Given the description of an element on the screen output the (x, y) to click on. 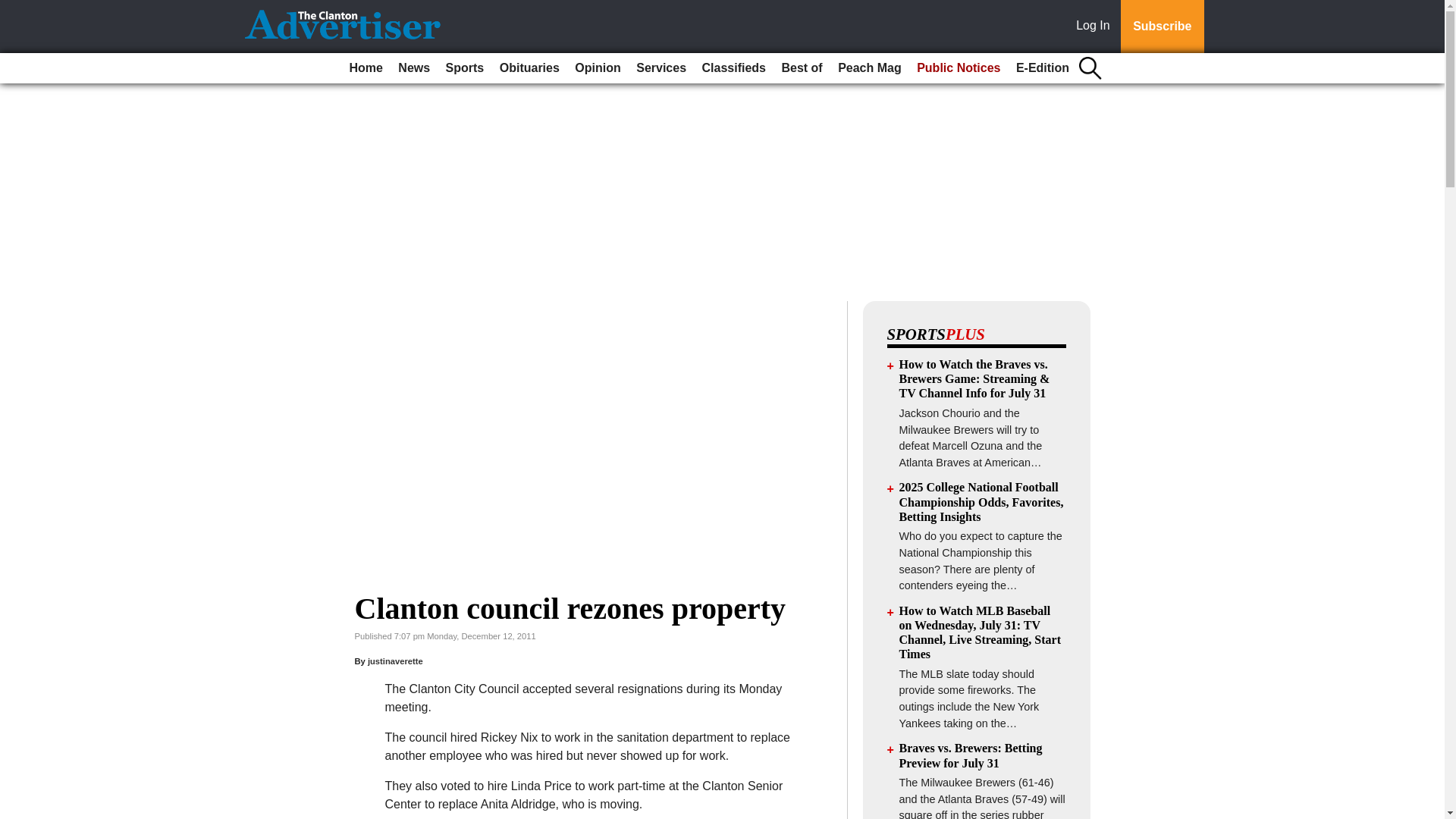
Go (13, 9)
E-Edition (1042, 68)
justinaverette (395, 660)
Best of (801, 68)
Services (661, 68)
Log In (1095, 26)
Subscribe (1162, 26)
Obituaries (529, 68)
Peach Mag (869, 68)
Opinion (597, 68)
Public Notices (958, 68)
Home (365, 68)
Classifieds (733, 68)
